Given the description of an element on the screen output the (x, y) to click on. 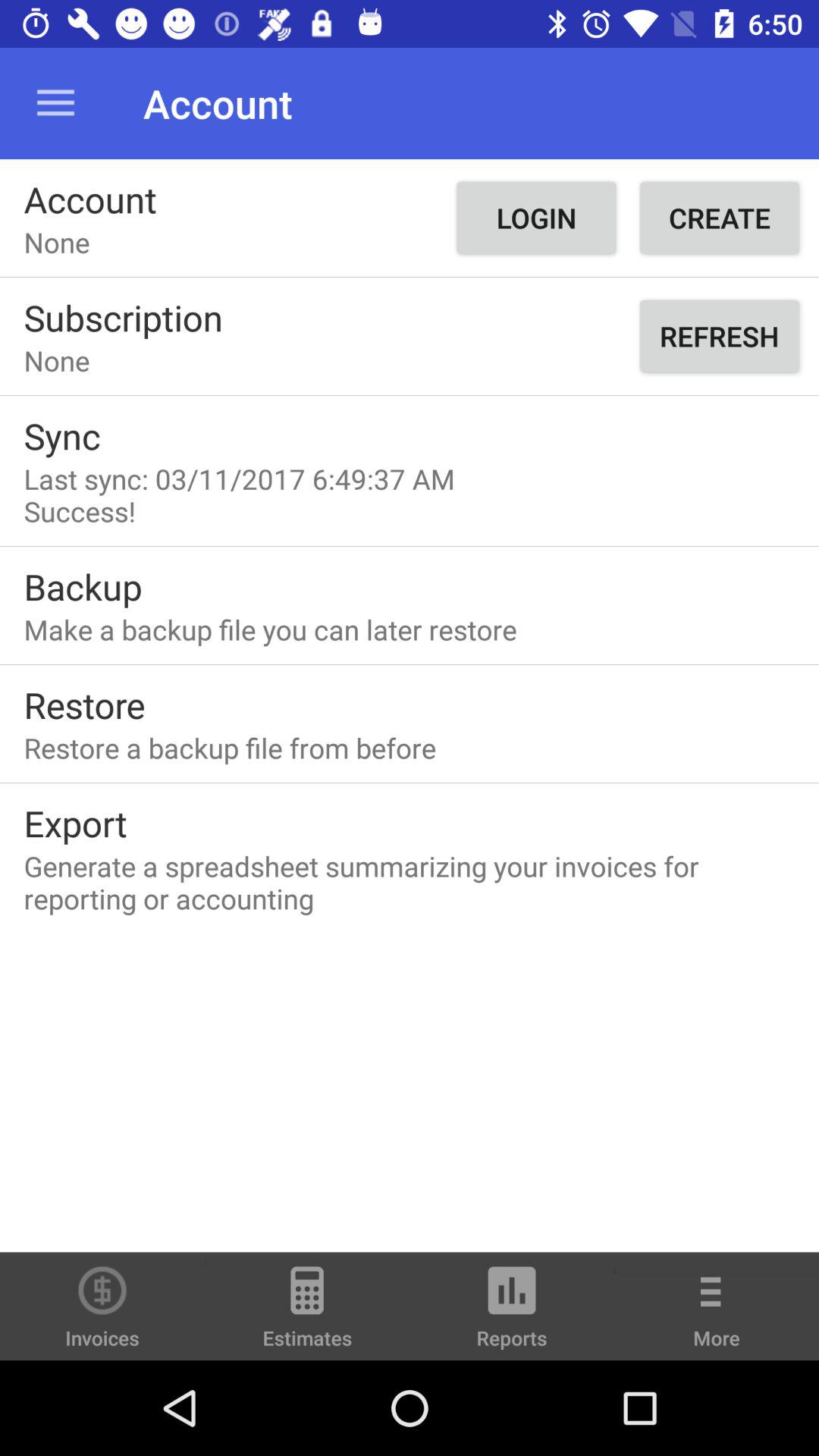
tap the icon next to the account (535, 217)
